Given the description of an element on the screen output the (x, y) to click on. 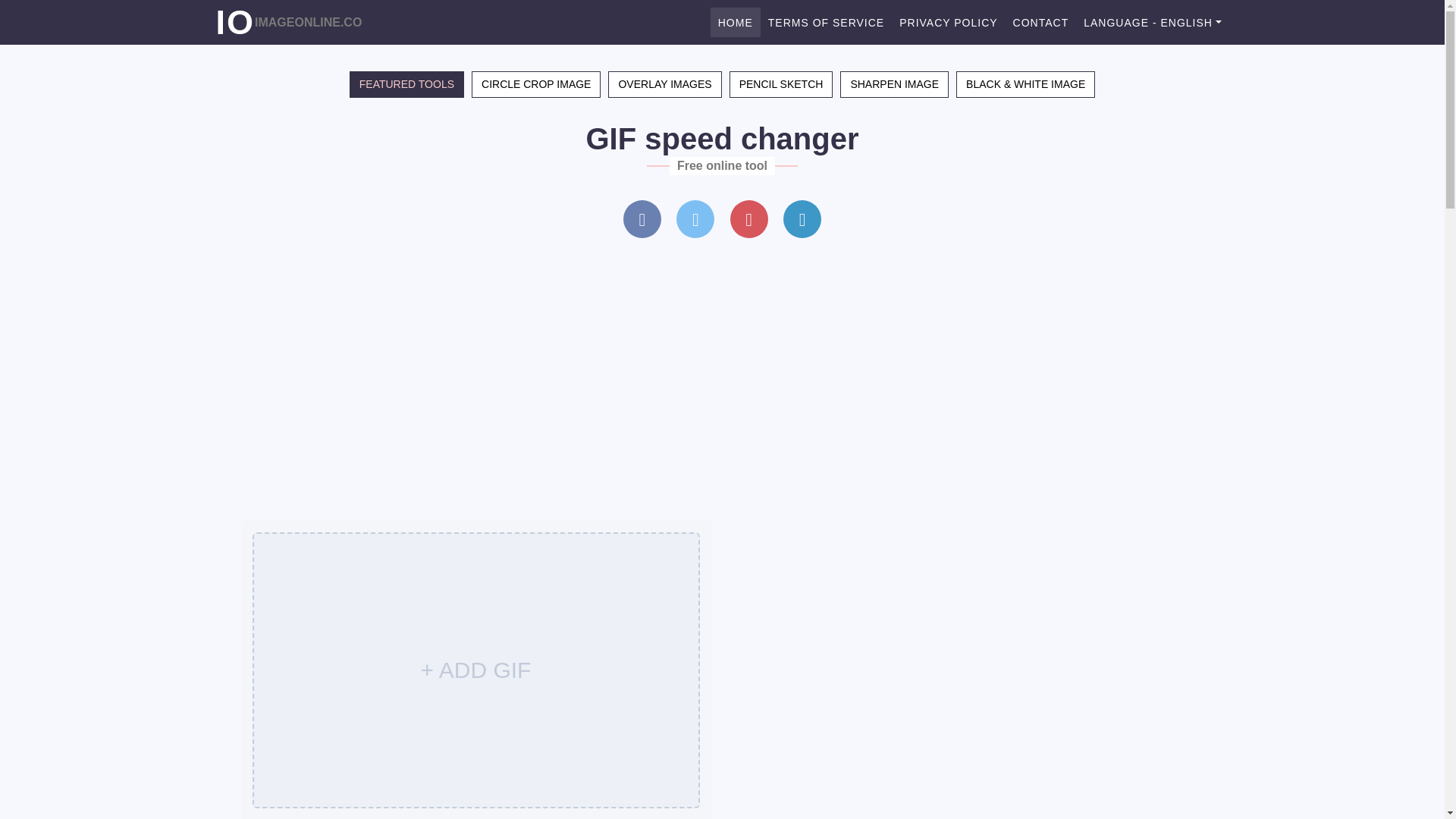
LANGUAGE - ENGLISH (1151, 21)
PRIVACY POLICY (947, 21)
IO (234, 21)
HOME (735, 21)
CONTACT (1041, 21)
OVERLAY IMAGES (664, 83)
TERMS OF SERVICE (825, 21)
SHARPEN IMAGE (894, 83)
CIRCLE CROP IMAGE (536, 83)
